Given the description of an element on the screen output the (x, y) to click on. 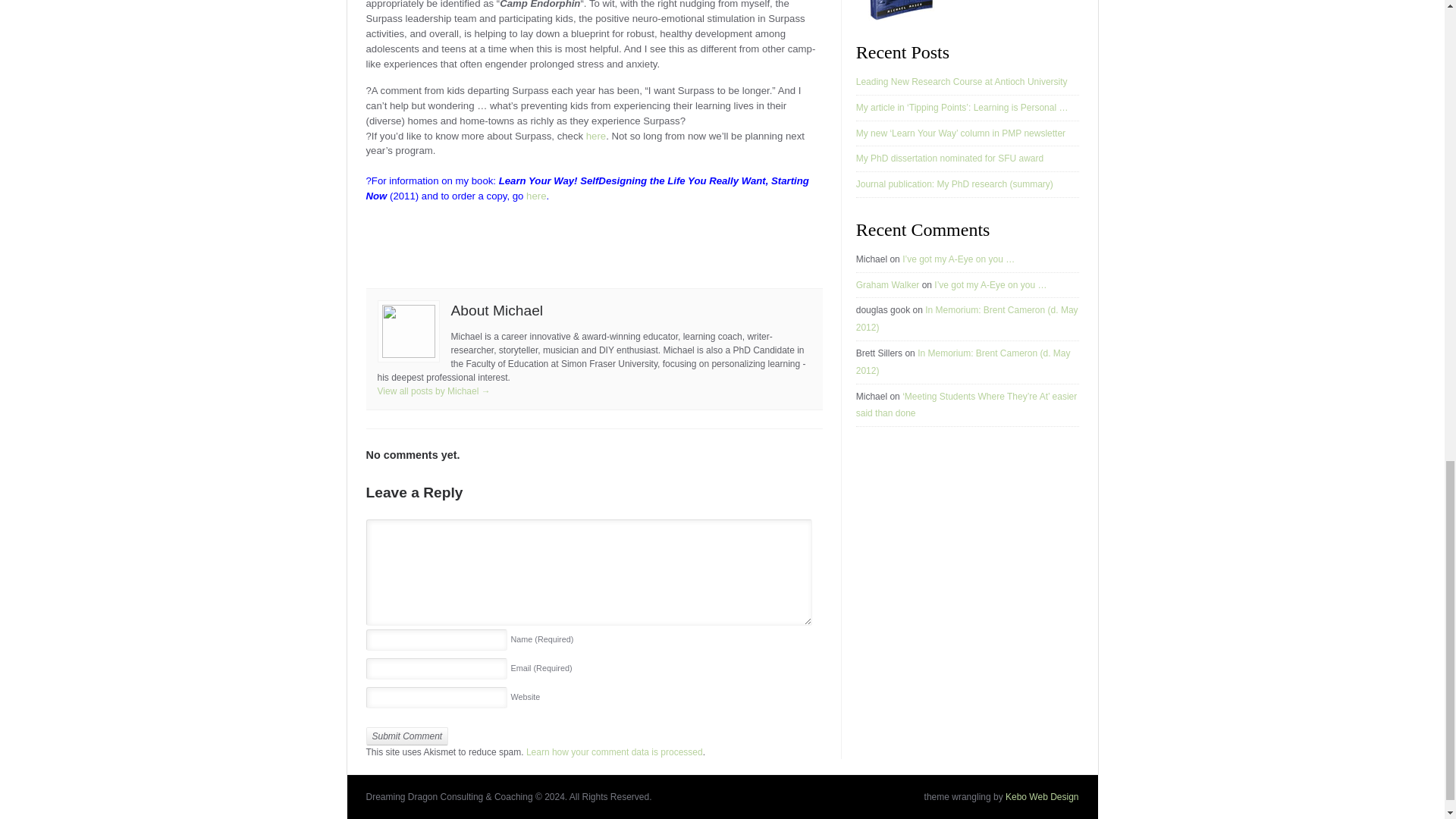
here (535, 195)
Submit Comment (406, 736)
Learn how your comment data is processed (614, 751)
here (595, 135)
Submit Comment (406, 736)
